Given the description of an element on the screen output the (x, y) to click on. 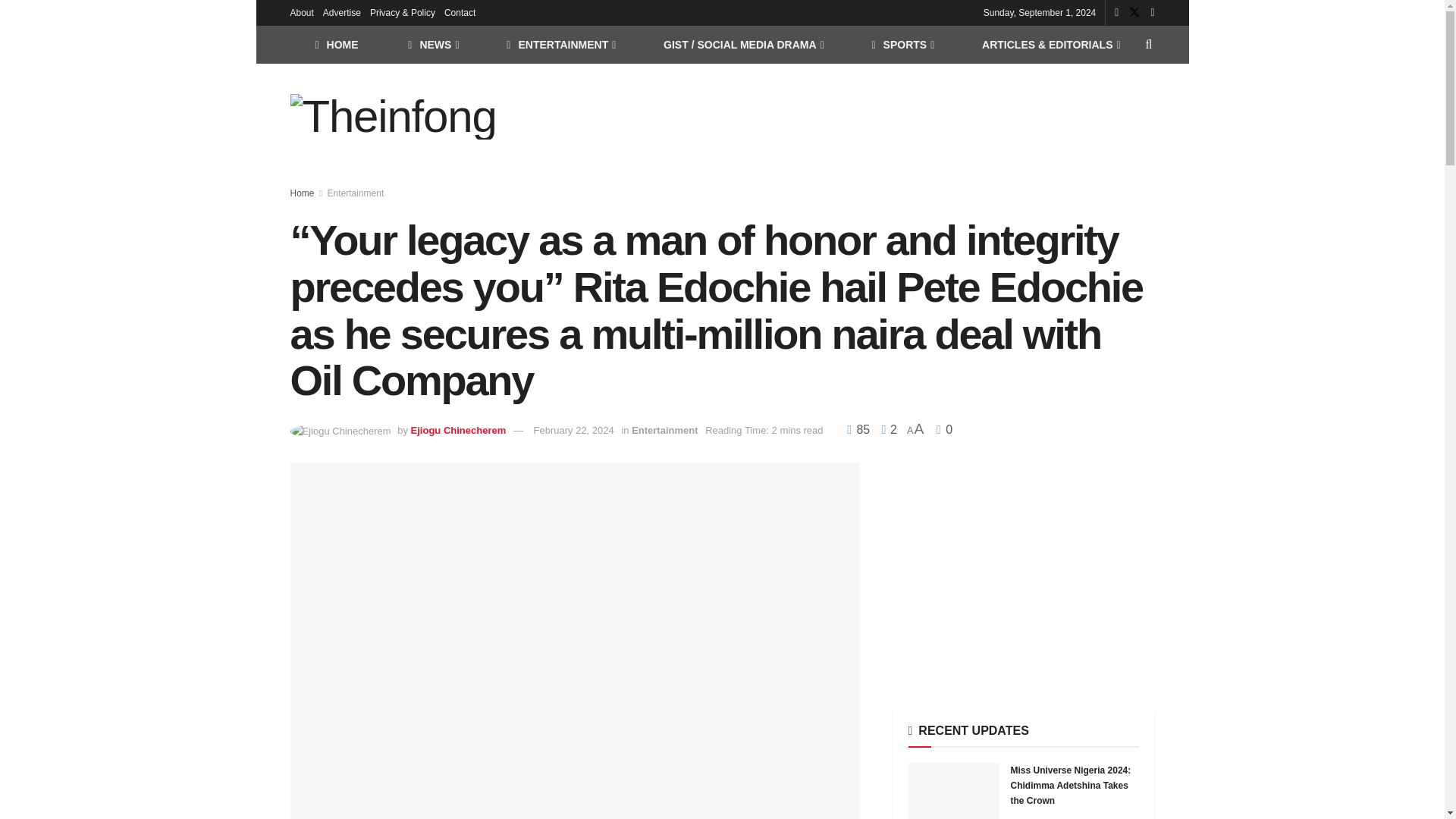
HOME (335, 44)
NEWS (431, 44)
ENTERTAINMENT (560, 44)
About (301, 12)
Advertise (342, 12)
Sport (902, 44)
Contact (460, 12)
